Given the description of an element on the screen output the (x, y) to click on. 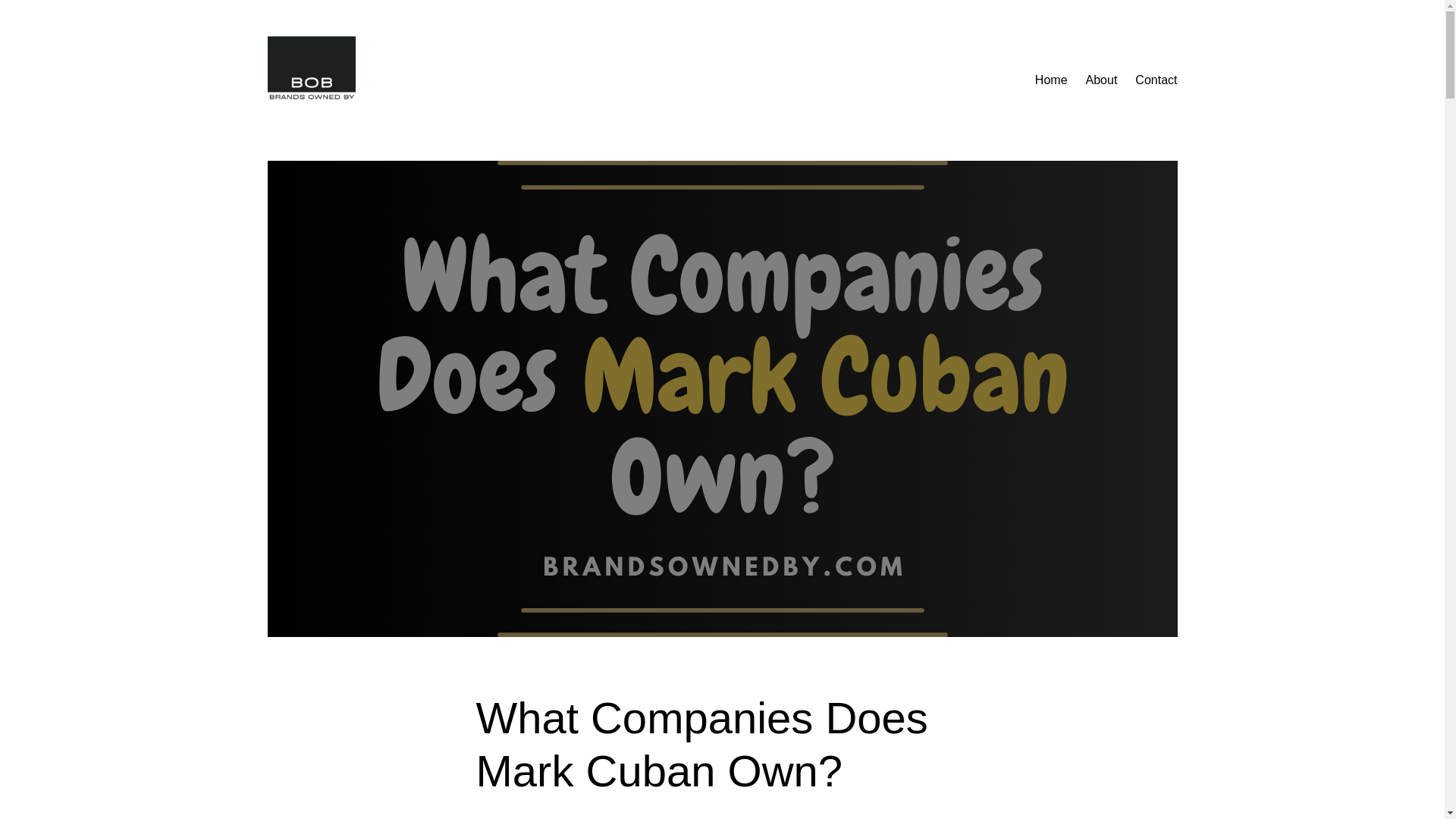
Contact (1155, 80)
Home (1051, 80)
About (1102, 80)
